Given the description of an element on the screen output the (x, y) to click on. 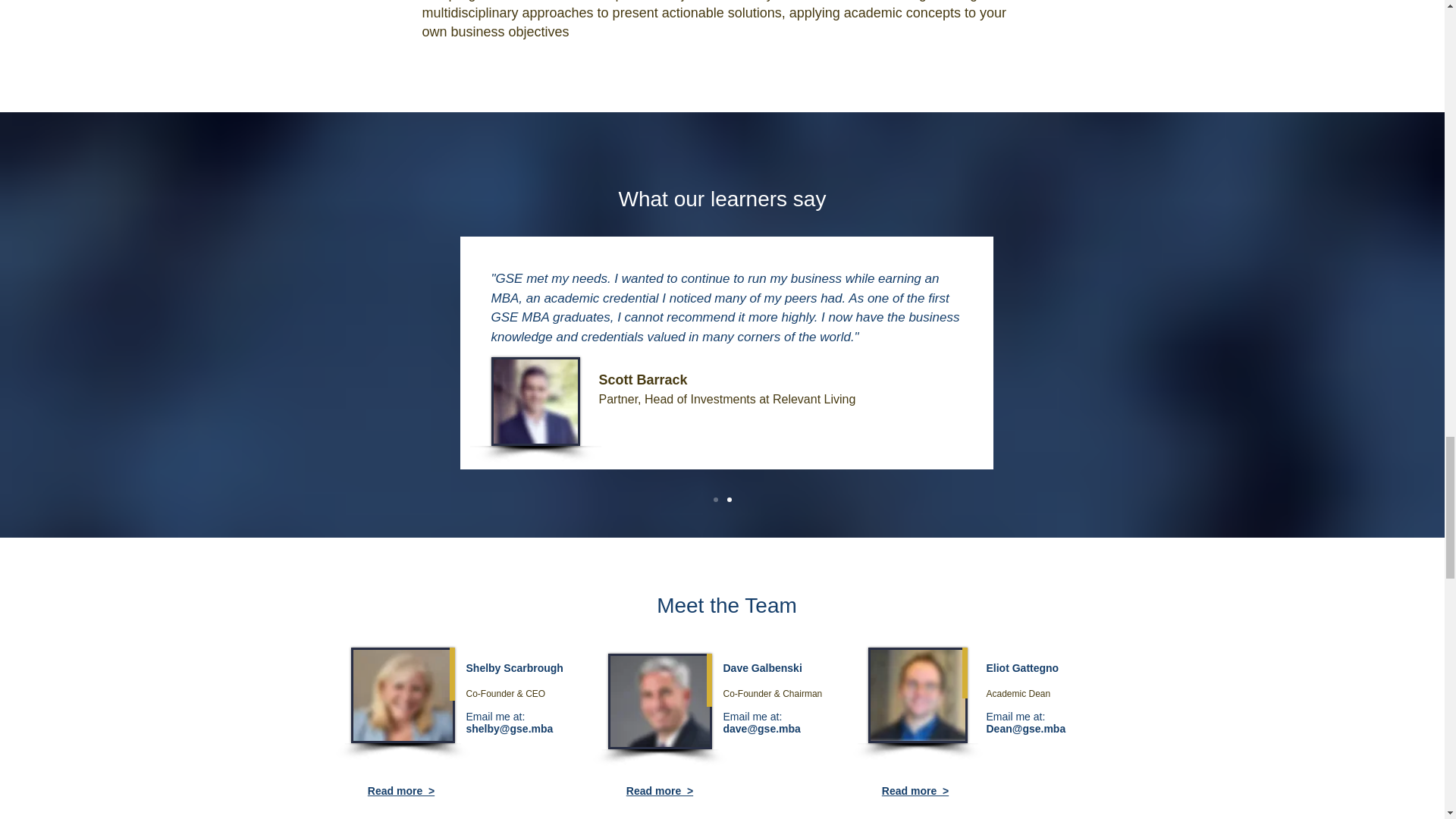
guy2.jpg (535, 401)
stock-photo-bearded-middle-aged-man-wear (402, 694)
stock-photo-bearded-middle-aged-man-wear (916, 694)
stock-photo-bearded-middle-aged-man-wear (659, 701)
